Given the description of an element on the screen output the (x, y) to click on. 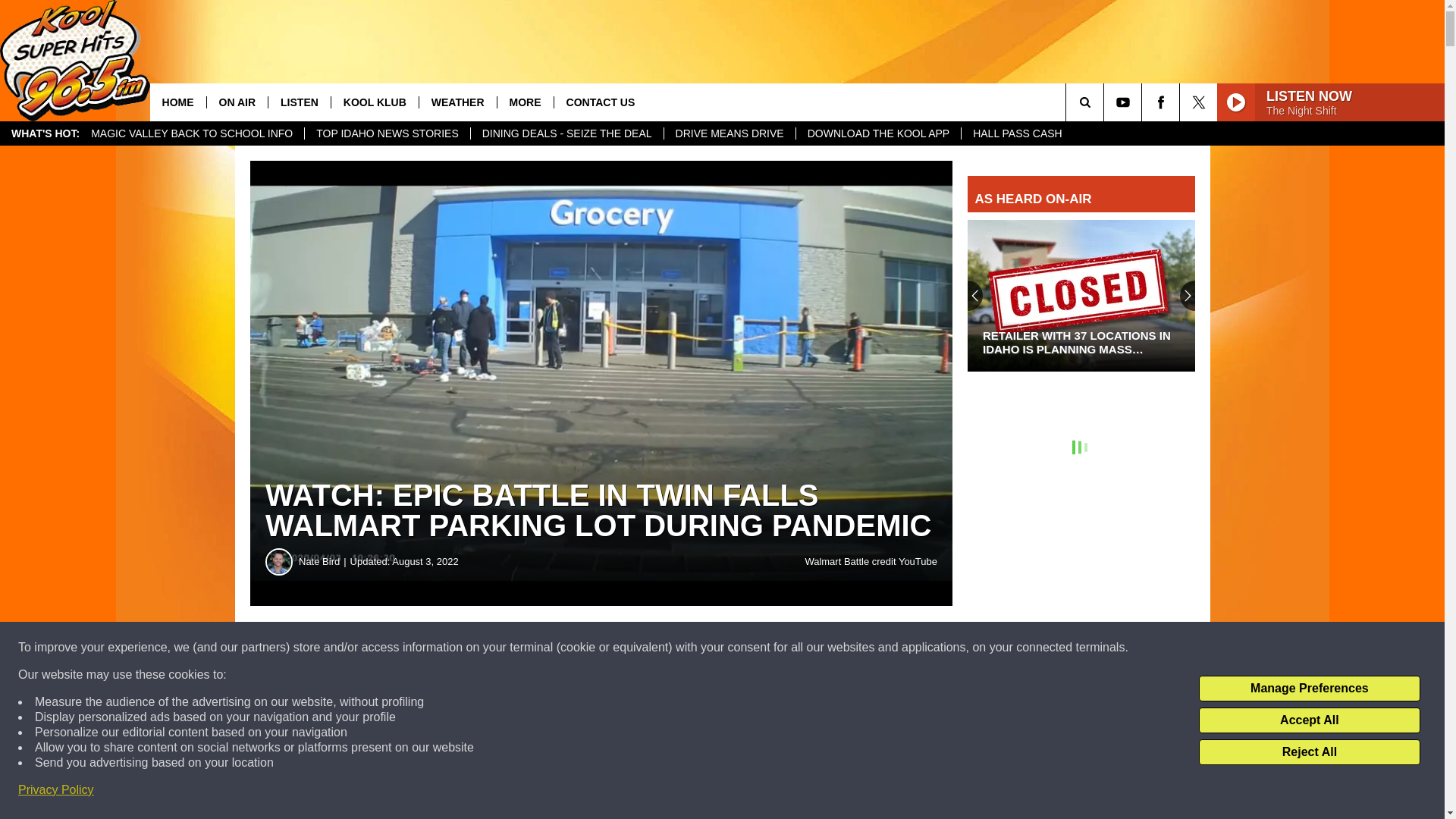
WEATHER (457, 102)
DINING DEALS - SEIZE THE DEAL (566, 133)
HOME (177, 102)
Accept All (1309, 720)
LISTEN (298, 102)
Manage Preferences (1309, 688)
Reject All (1309, 751)
Privacy Policy (55, 789)
DOWNLOAD THE KOOL APP (877, 133)
TOP IDAHO NEWS STORIES (386, 133)
